Given the description of an element on the screen output the (x, y) to click on. 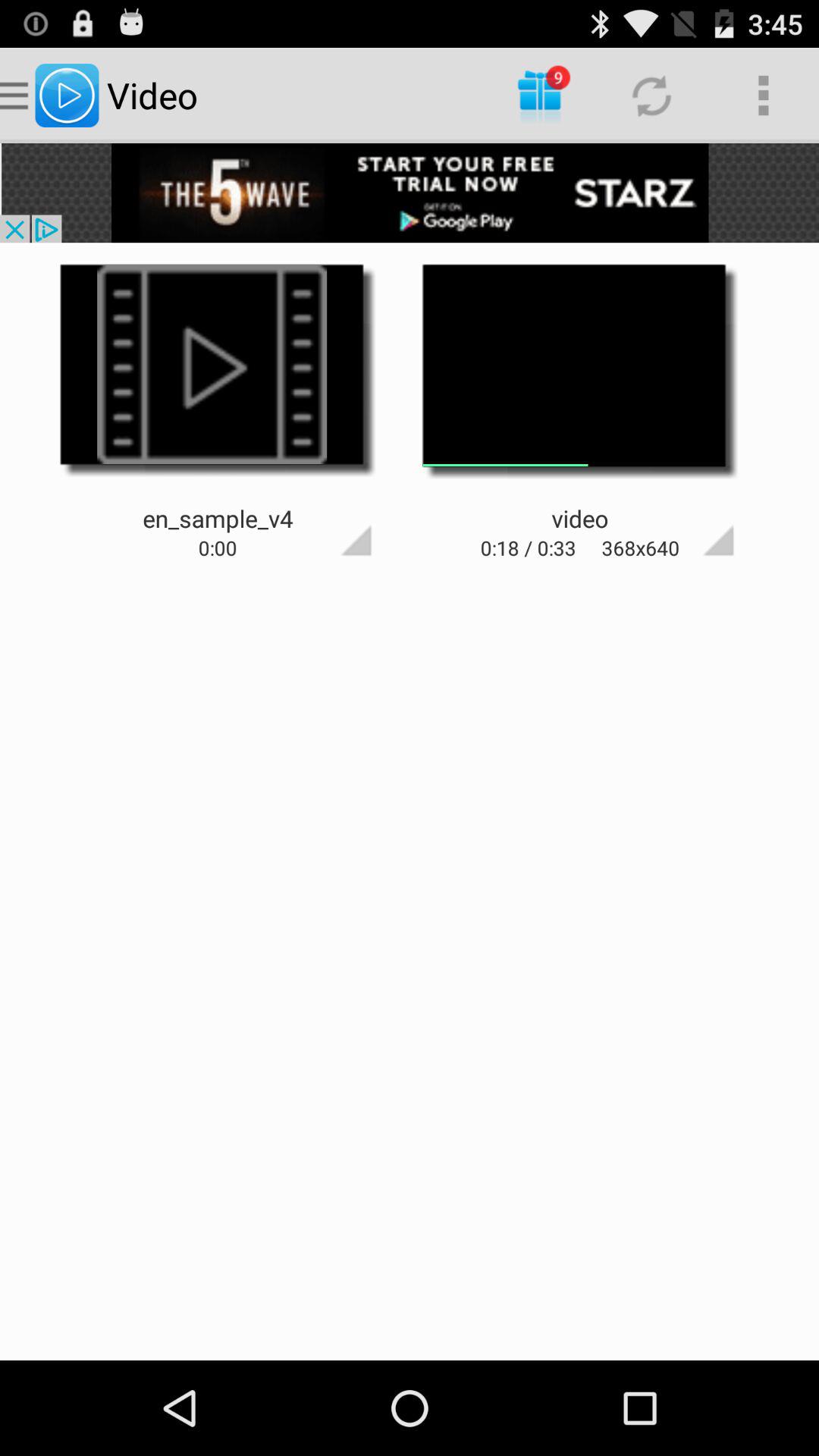
advertisement link (409, 192)
